Given the description of an element on the screen output the (x, y) to click on. 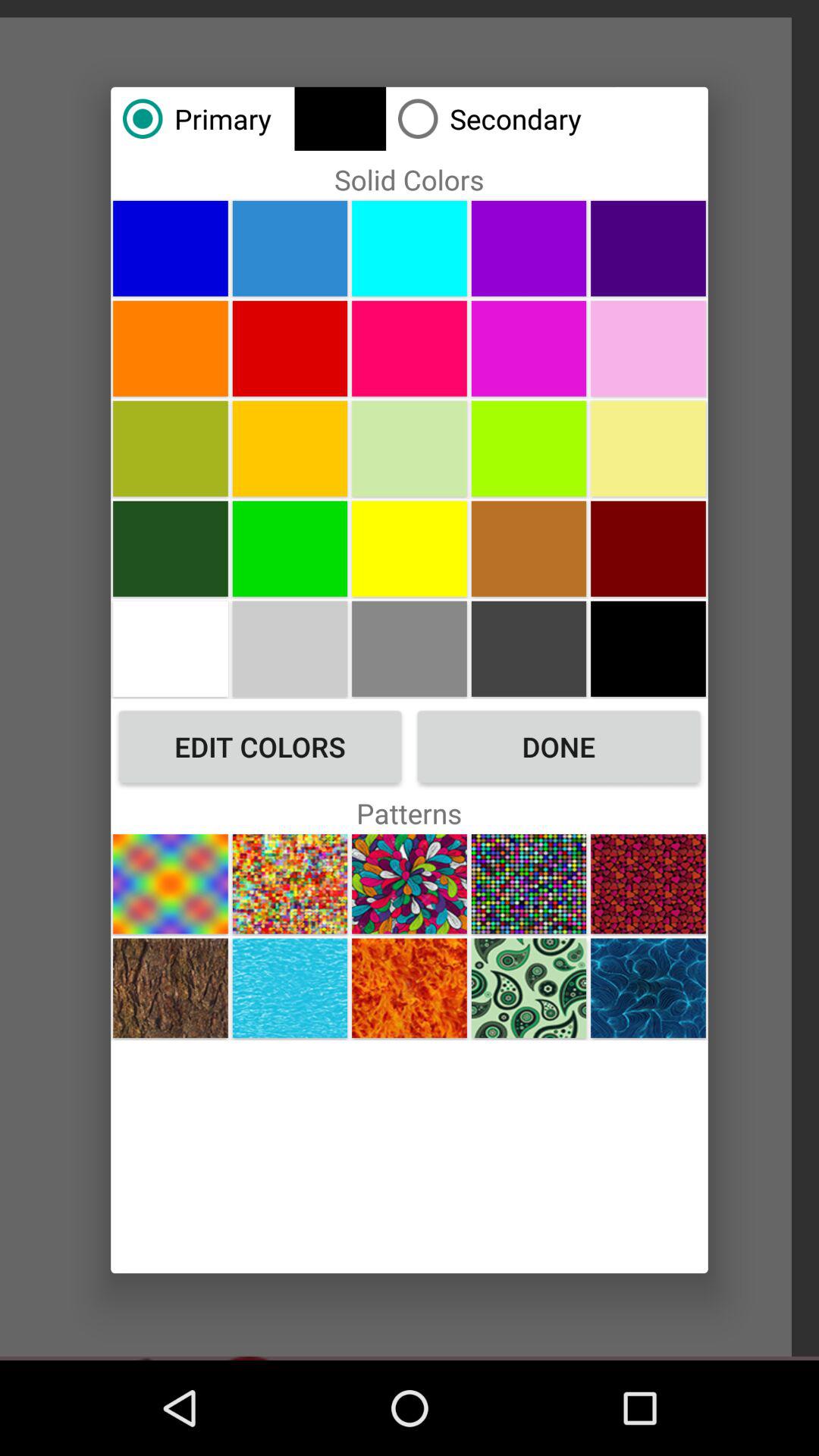
i would use this button to change the color of the item to grey (289, 648)
